Given the description of an element on the screen output the (x, y) to click on. 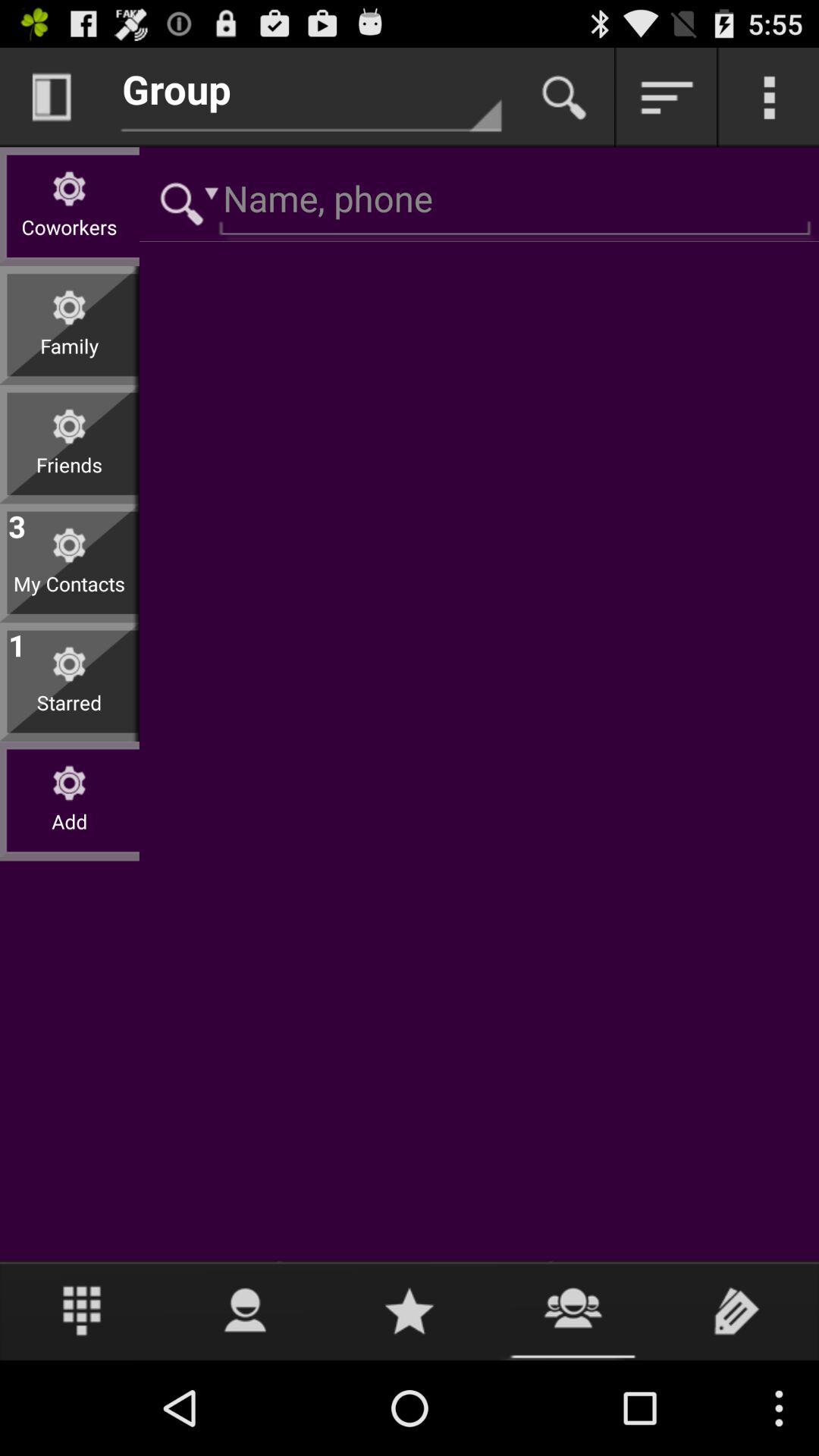
click icon at the bottom (409, 1310)
